Given the description of an element on the screen output the (x, y) to click on. 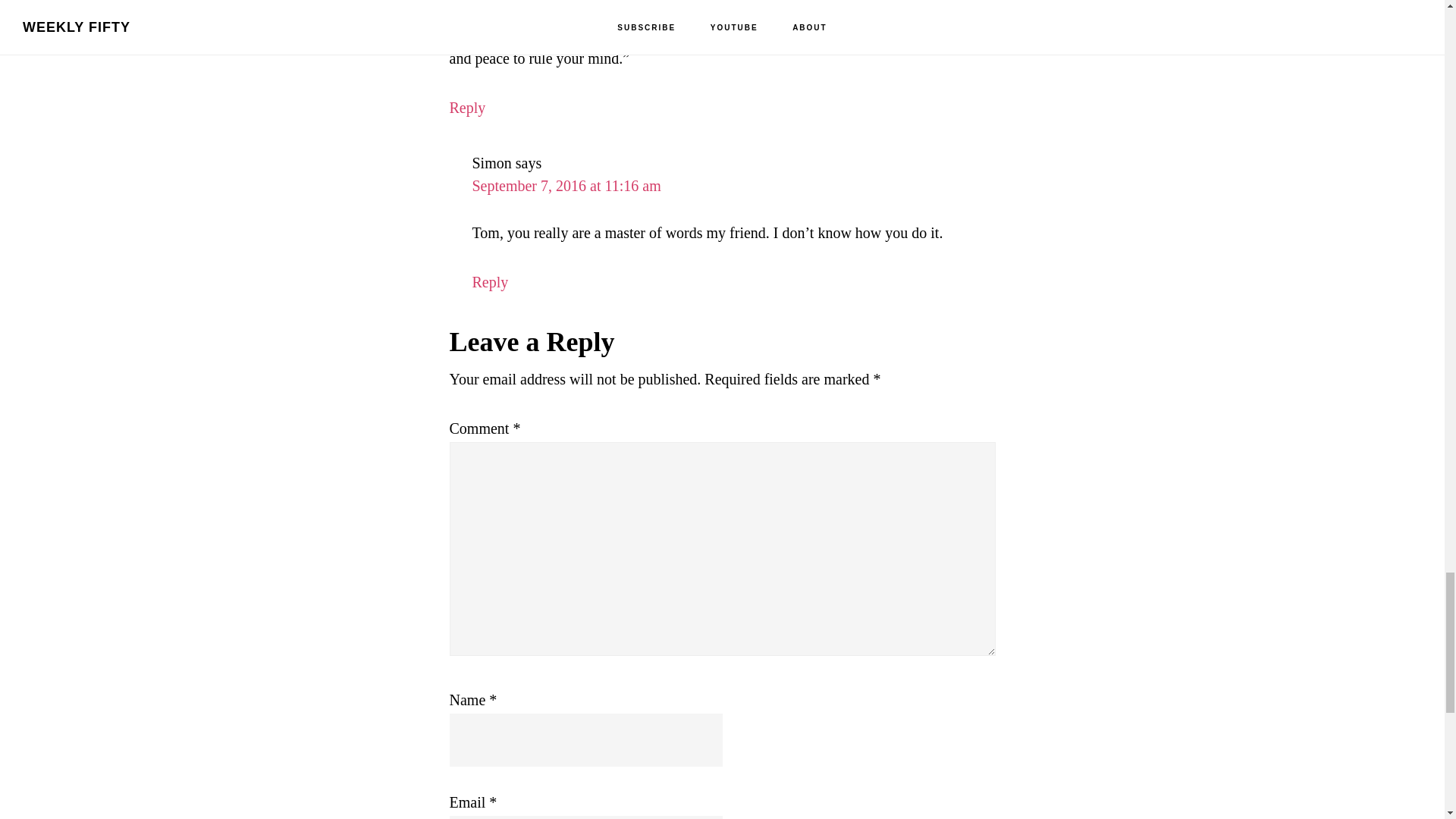
Reply (466, 107)
Reply (489, 281)
September 7, 2016 at 11:16 am (566, 185)
